Given the description of an element on the screen output the (x, y) to click on. 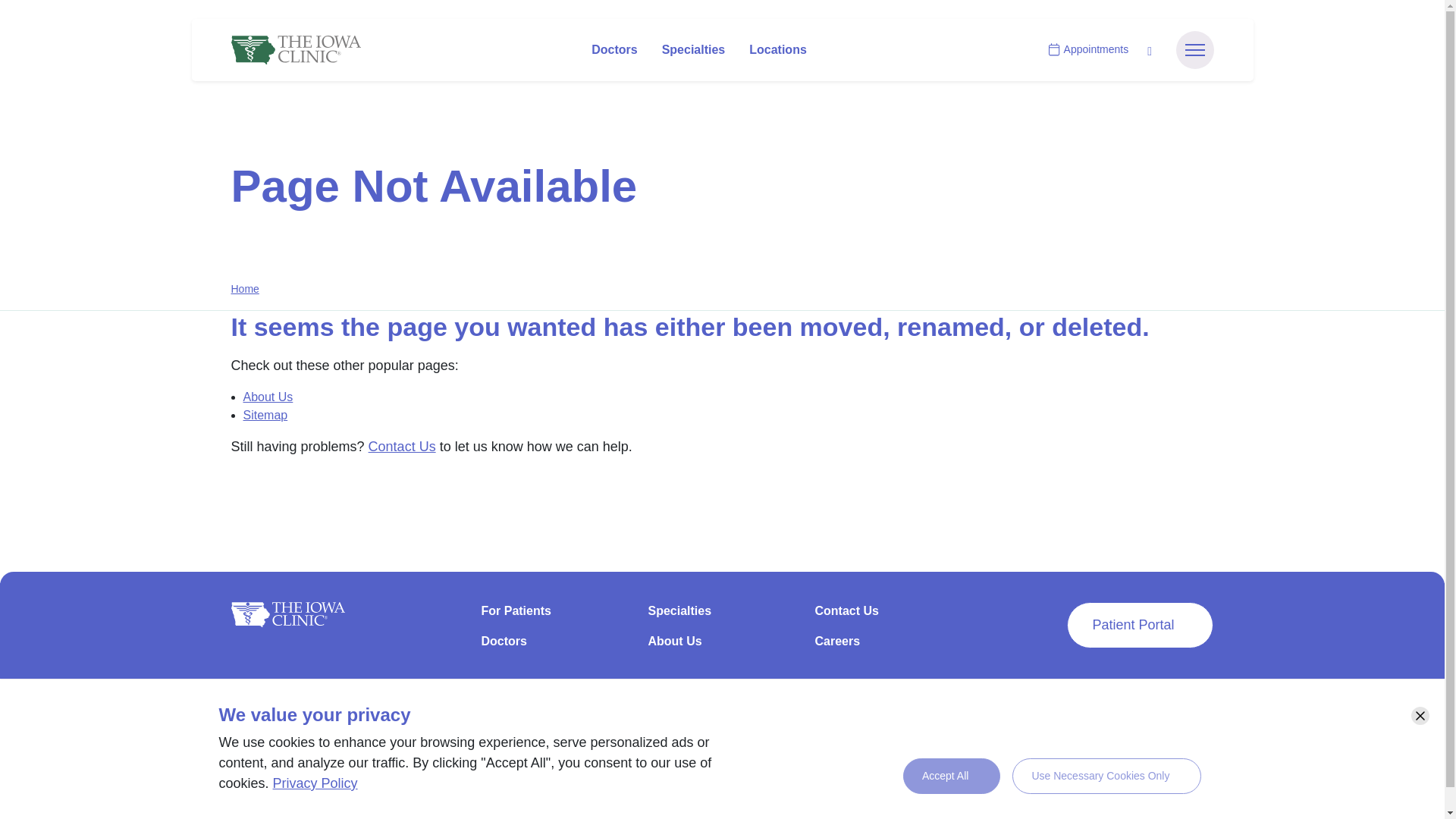
Locations (777, 49)
The Iowa Clinic (294, 50)
Specialties (721, 616)
Specialties (692, 49)
About Us (721, 647)
Menu (1193, 49)
For Patients (554, 616)
Contact Us (401, 445)
Doctors (614, 49)
Patient Portal (1139, 624)
